Given the description of an element on the screen output the (x, y) to click on. 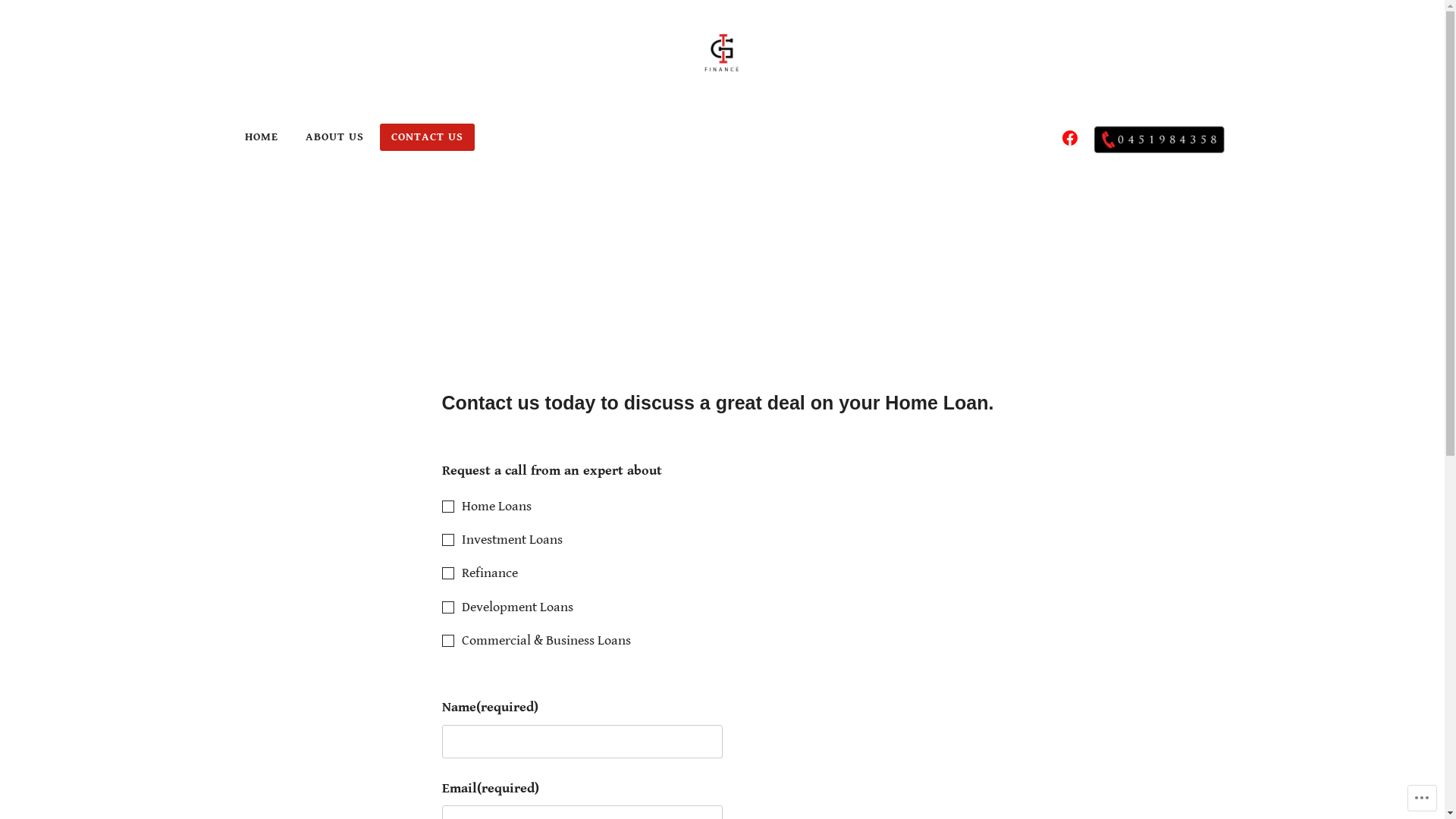
HOME & COMMERCIAL LOAN SPECIALIST Element type: text (707, 119)
ABOUT US Element type: text (334, 136)
HOME Element type: text (261, 136)
CONTACT US Element type: text (426, 136)
